Given the description of an element on the screen output the (x, y) to click on. 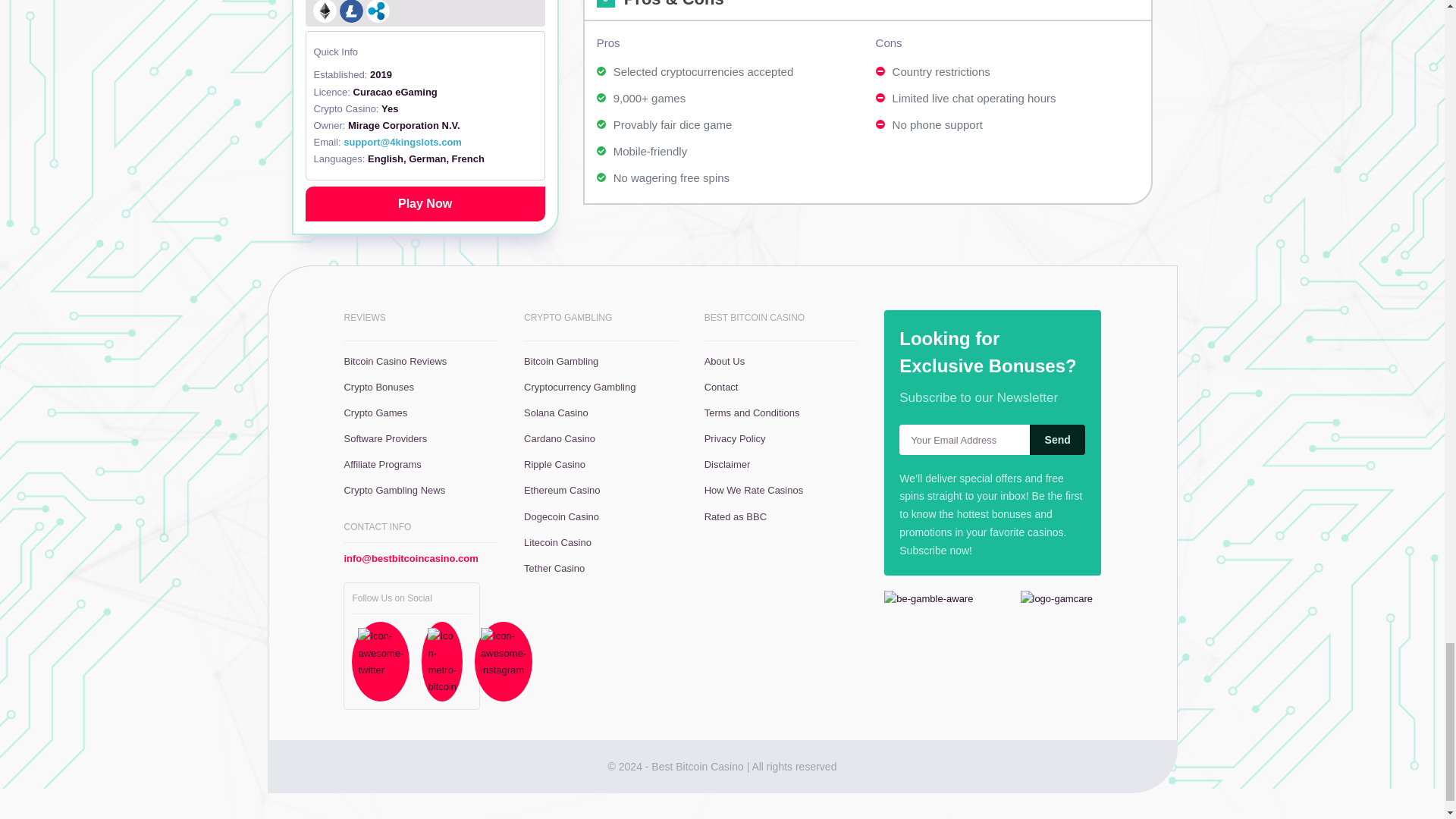
Send (1057, 440)
